Given the description of an element on the screen output the (x, y) to click on. 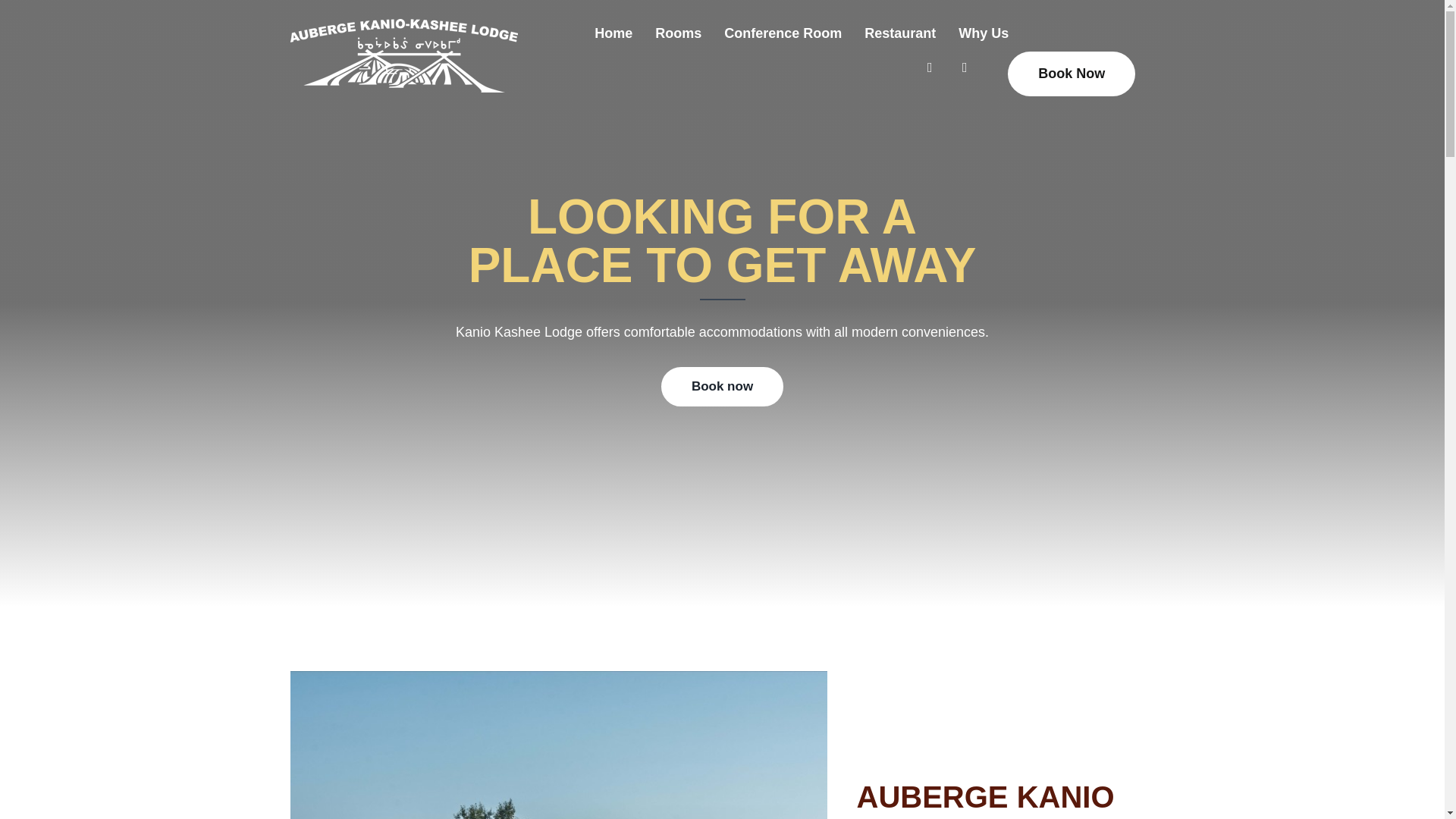
Why Us (983, 33)
Book Now (1071, 73)
Conference Room (783, 33)
Restaurant (900, 33)
Book now (722, 386)
Rooms (678, 33)
Home (613, 33)
